Given the description of an element on the screen output the (x, y) to click on. 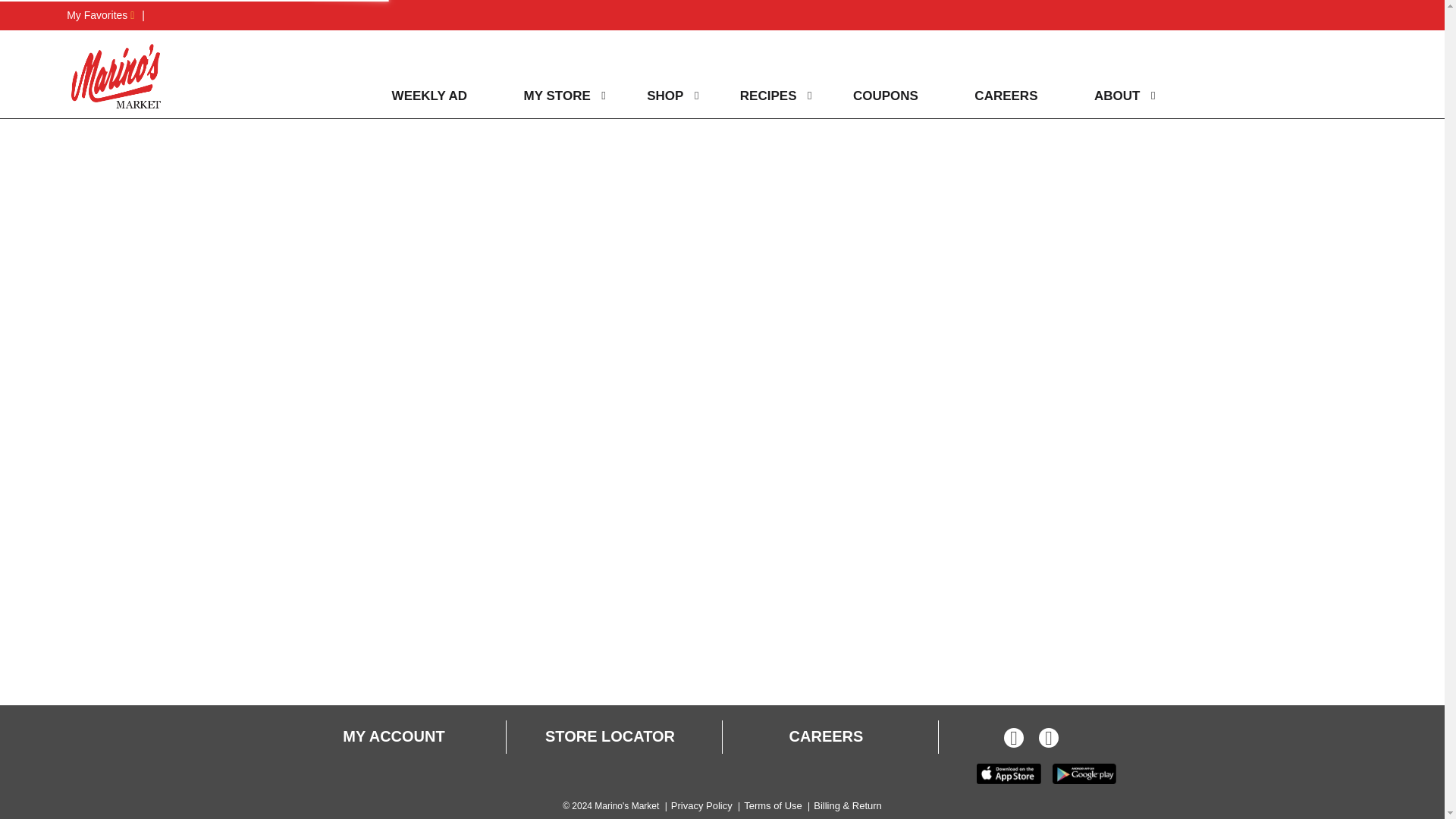
twitter (1048, 739)
Marino's Market (116, 75)
WEEKLY AD (425, 95)
MY ACCOUNT (393, 737)
ABOUT (1112, 95)
My Favorites  (99, 15)
facebook (1013, 739)
MY STORE (552, 95)
Terms of Use (773, 805)
STORE LOCATOR (609, 737)
